Given the description of an element on the screen output the (x, y) to click on. 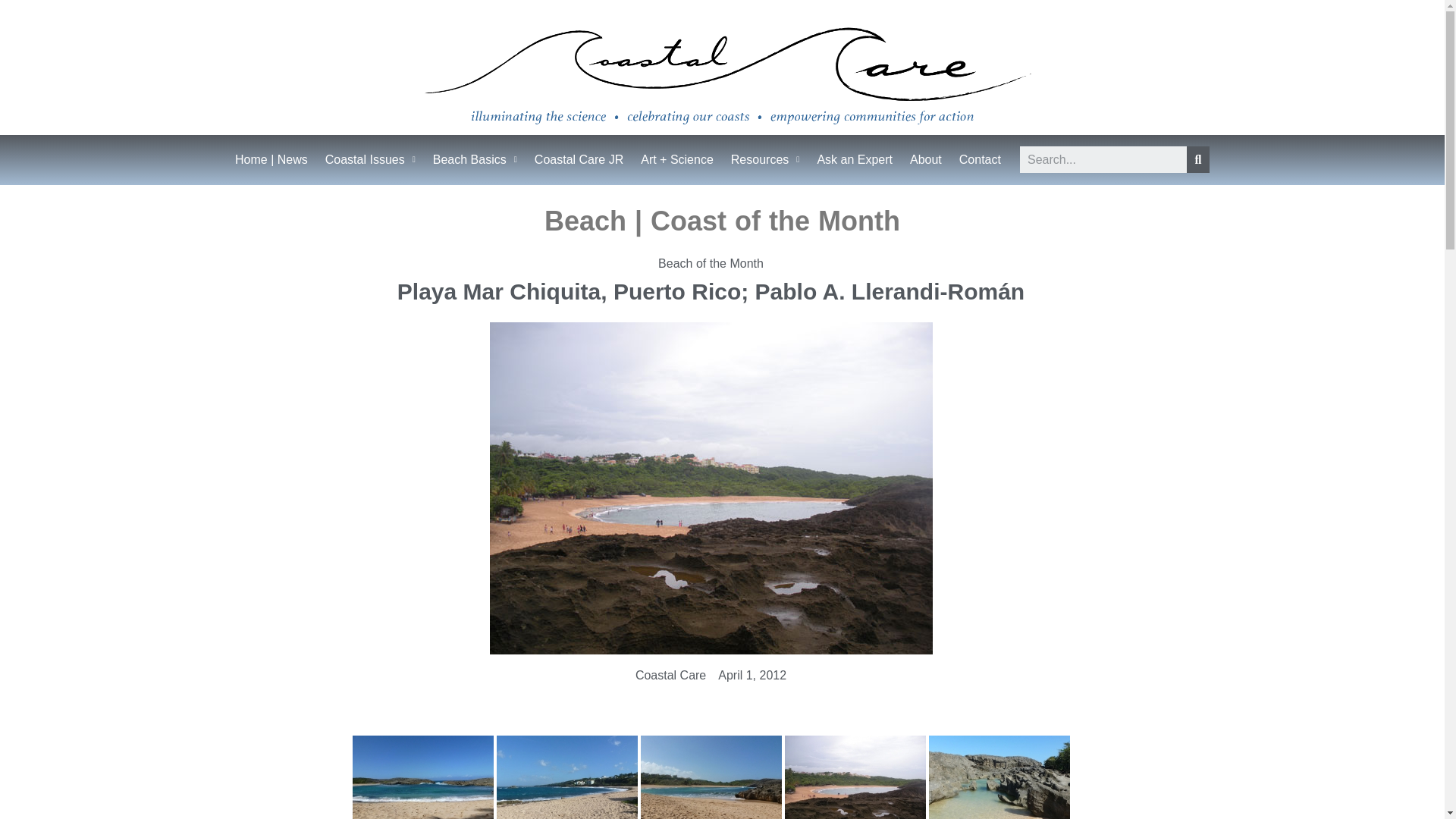
About (926, 159)
Ask an Expert (854, 159)
Coastal Issues (369, 159)
Coastal Care JR (578, 159)
Beach Basics (474, 159)
Contact (980, 159)
Search (1103, 159)
Resources (764, 159)
